Given the description of an element on the screen output the (x, y) to click on. 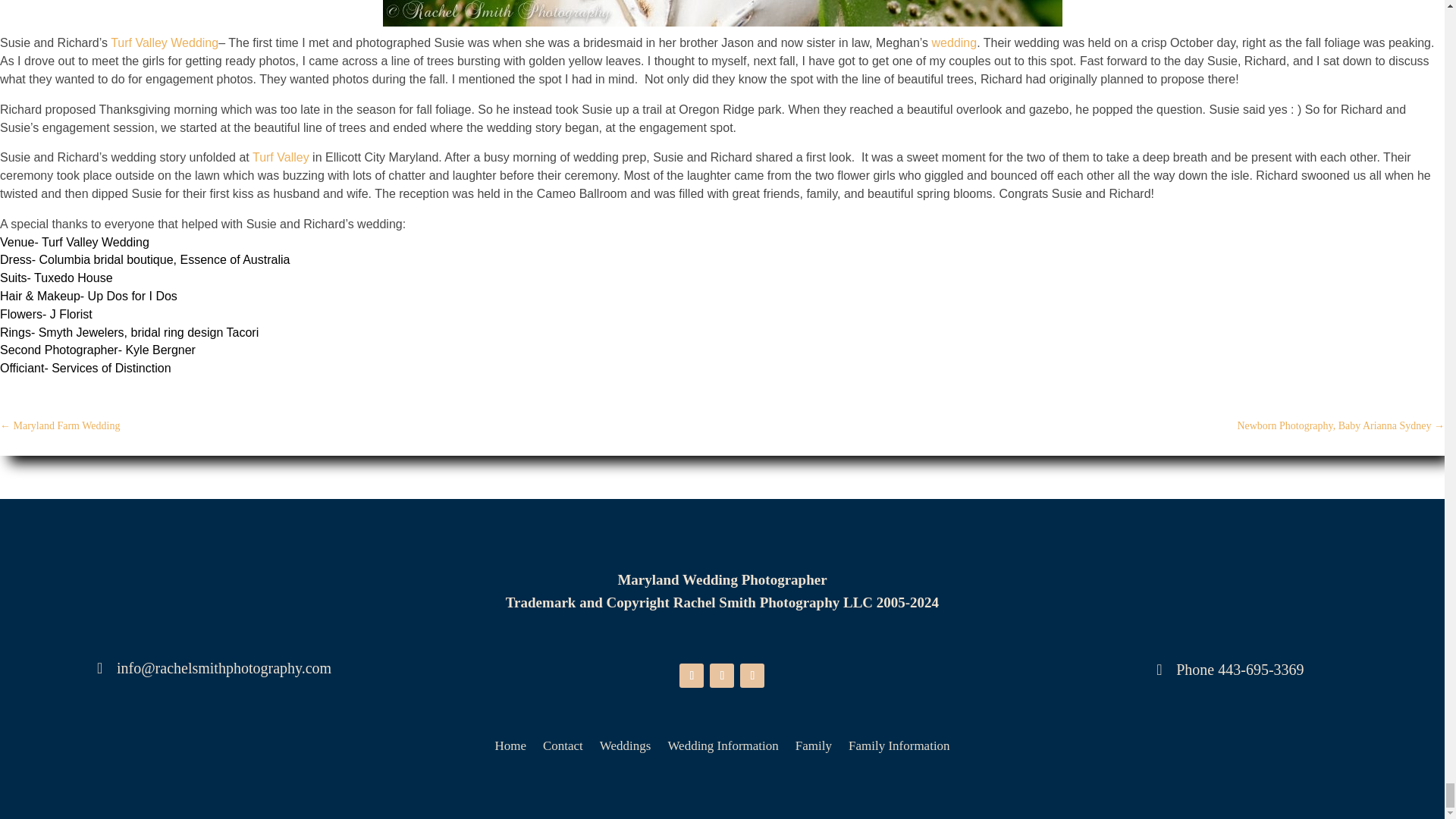
Turf Valley (279, 156)
Columbia bridal boutique (106, 259)
Up Dos for I Dos (132, 295)
Turf Valley Wedding (164, 42)
Turf Valley Wedding (95, 241)
wedding (953, 42)
